Given the description of an element on the screen output the (x, y) to click on. 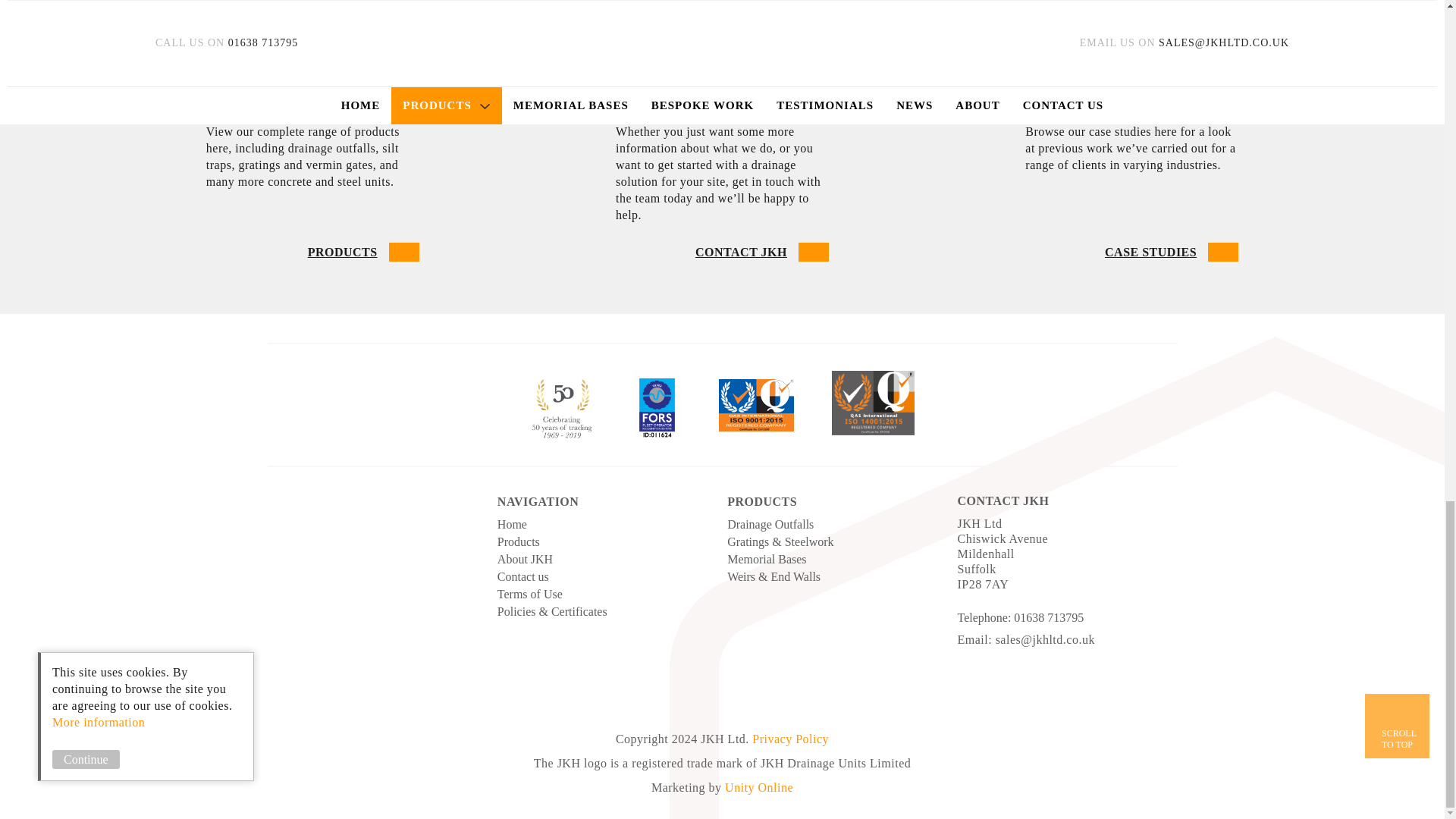
Home (512, 523)
Products (1397, 725)
Terms of Use (518, 541)
Contact us (529, 594)
About JKH (522, 576)
